Given the description of an element on the screen output the (x, y) to click on. 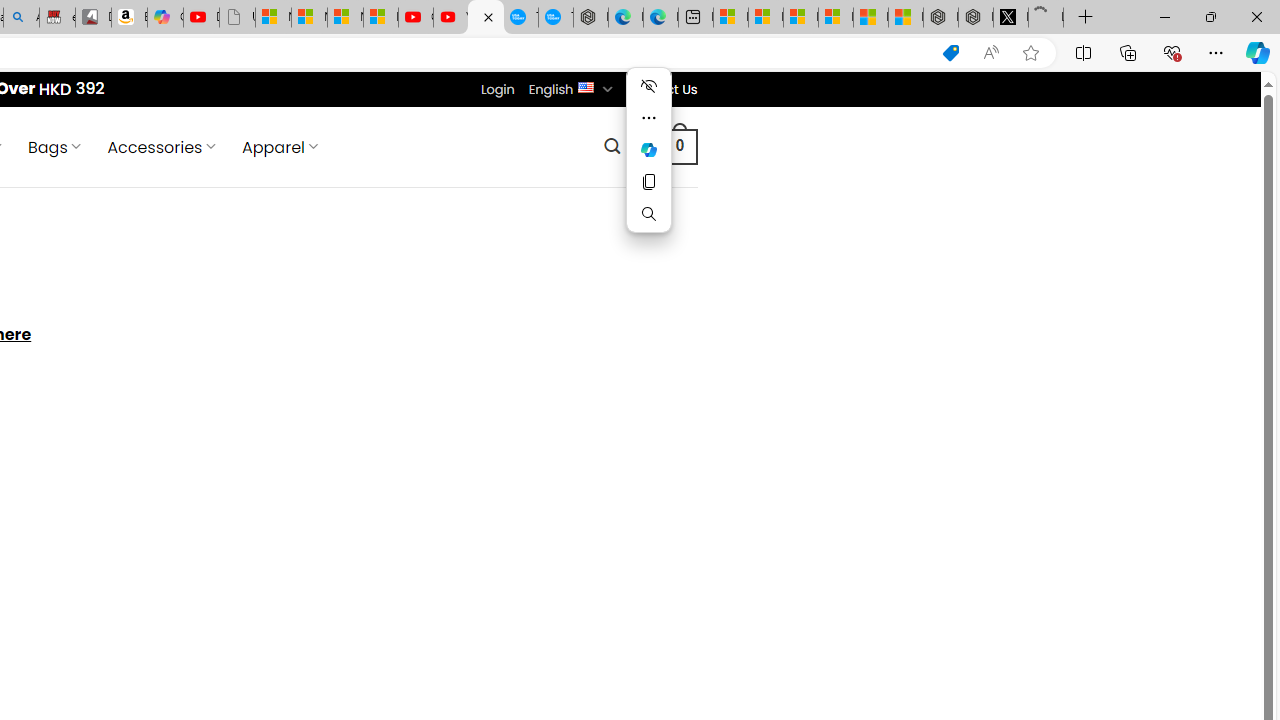
Mini menu on text selection (648, 149)
Ask Copilot (648, 149)
This site has coupons! Shopping in Microsoft Edge (950, 53)
